Given the description of an element on the screen output the (x, y) to click on. 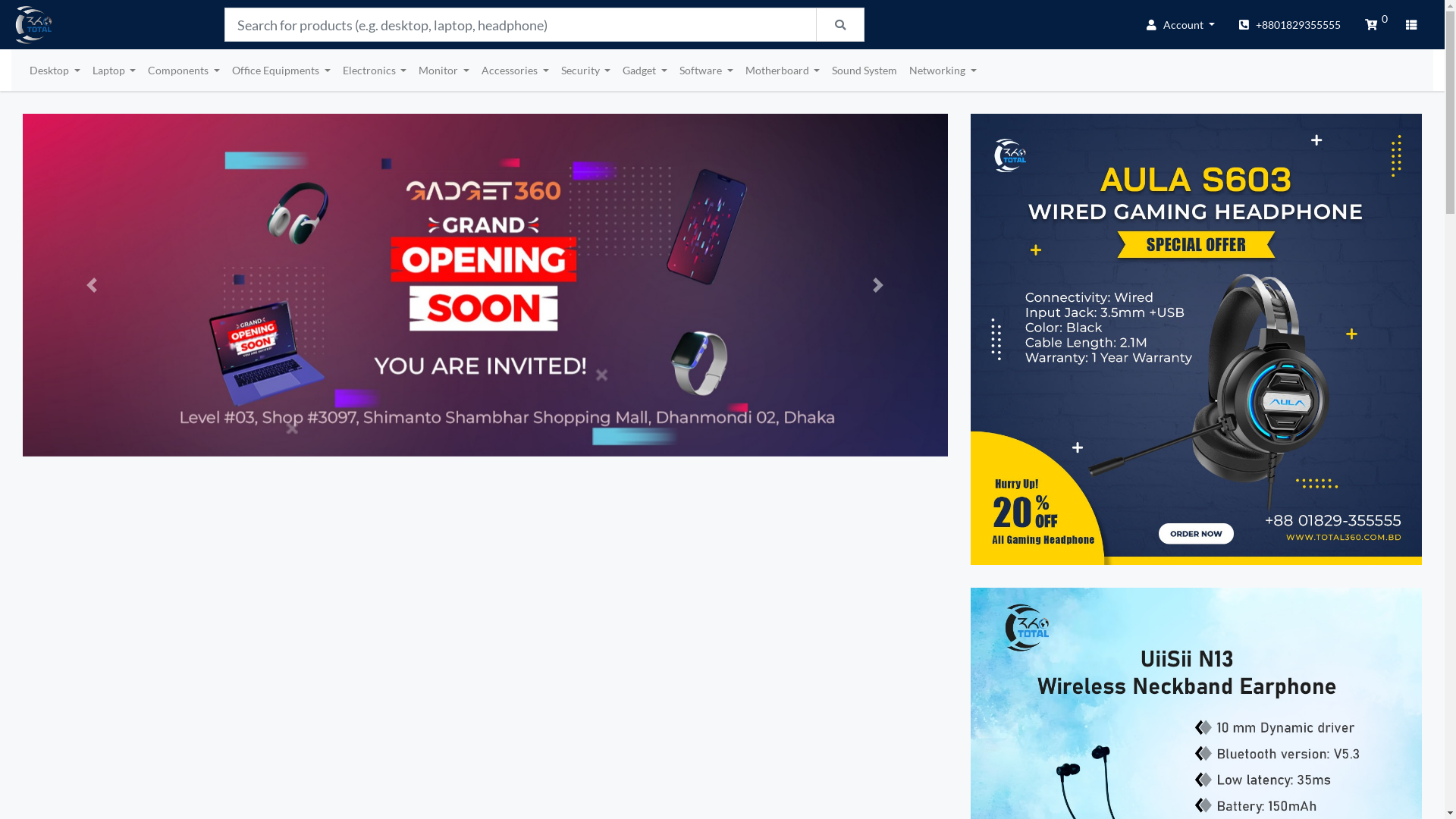
Gadget Element type: text (644, 69)
Monitor Element type: text (443, 69)
Office Equipments Element type: text (280, 69)
Desktop Element type: text (54, 69)
Laptop Element type: text (114, 69)
Networking Element type: text (942, 69)
Previous Element type: text (91, 302)
Account Element type: text (1180, 24)
Security Element type: text (586, 69)
+8801829355555 Element type: text (1289, 24)
Motherboard Element type: text (782, 69)
Software Element type: text (706, 69)
Accessories Element type: text (515, 69)
Electronics Element type: text (374, 69)
Next Element type: text (878, 302)
Sound System Element type: text (864, 69)
0 Element type: text (1372, 24)
Compare Products Element type: hover (1413, 24)
Components Element type: text (183, 69)
